Given the description of an element on the screen output the (x, y) to click on. 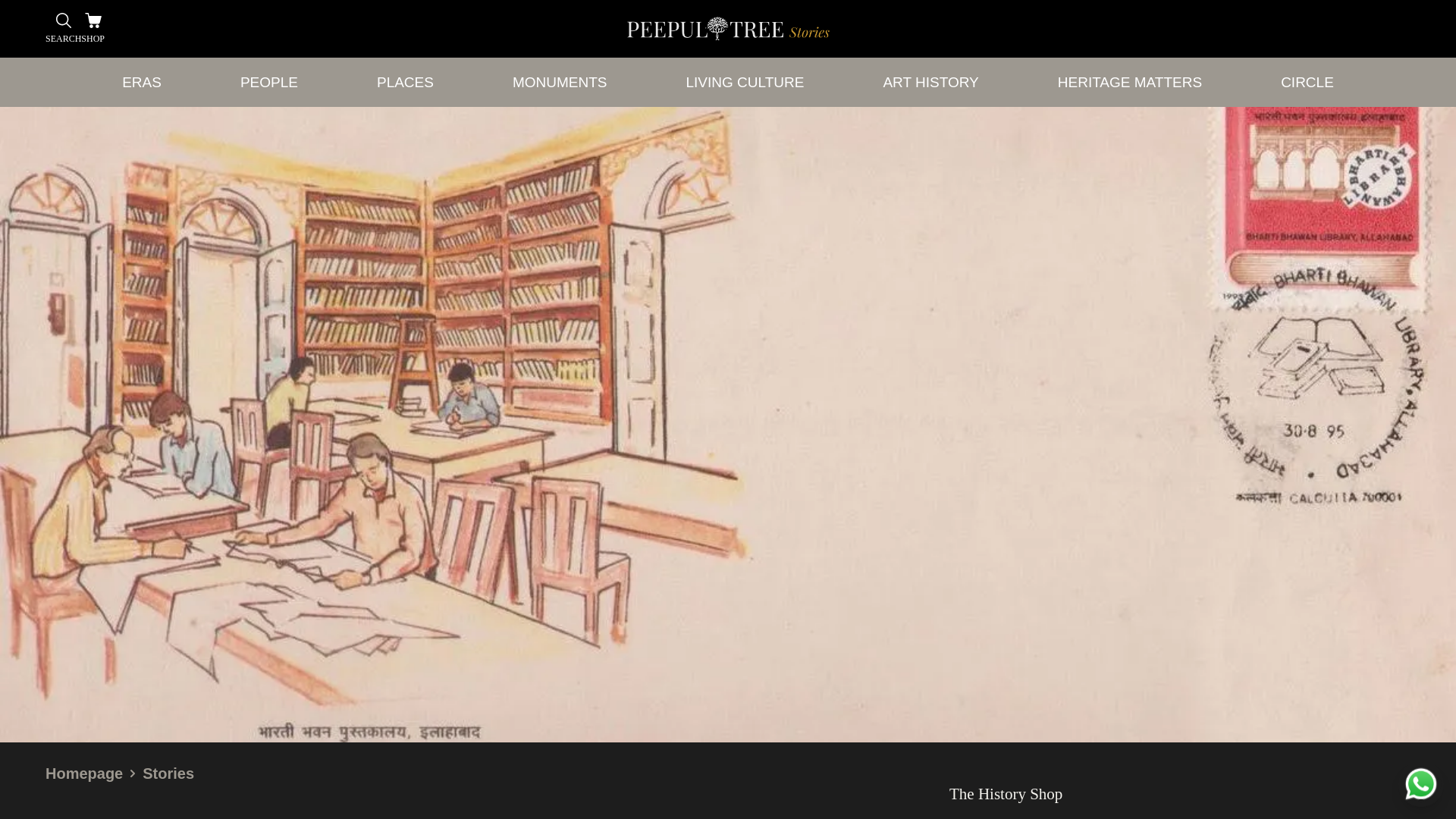
ART HISTORY (930, 82)
LIVING CULTURE (744, 82)
PEOPLE (269, 82)
PLACES (405, 82)
MONUMENTS (559, 82)
